Given the description of an element on the screen output the (x, y) to click on. 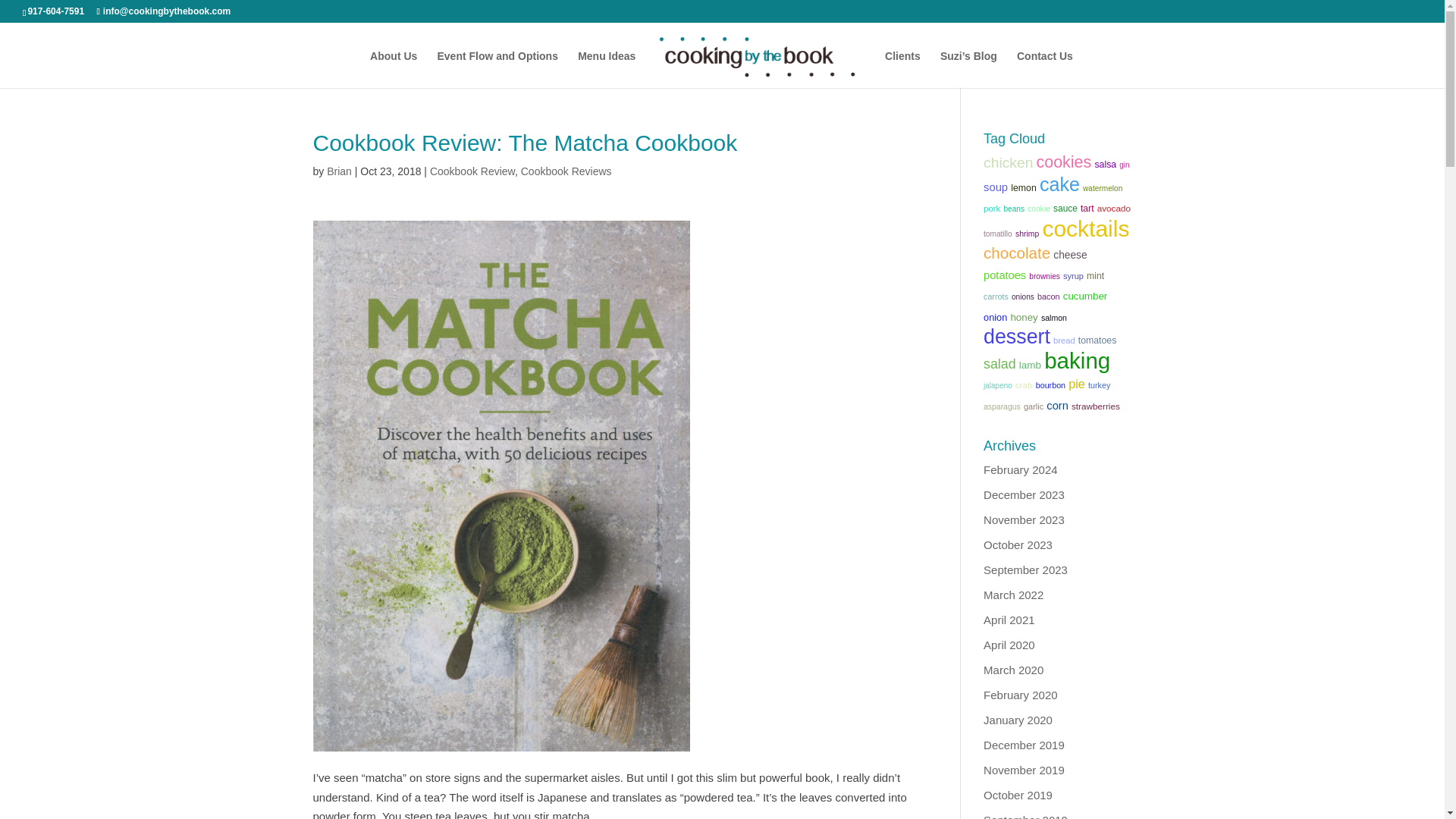
107 topics (1064, 162)
Event Flow and Options (496, 68)
Posts by Brian (339, 171)
29 topics (1102, 187)
pork (992, 207)
40 topics (1114, 207)
41 topics (1064, 208)
Menu Ideas (606, 68)
avocado (1114, 207)
44 topics (1105, 163)
gin (1124, 164)
cocktails (1085, 227)
cheese (1069, 255)
chicken (1008, 162)
44 topics (1023, 186)
